Given the description of an element on the screen output the (x, y) to click on. 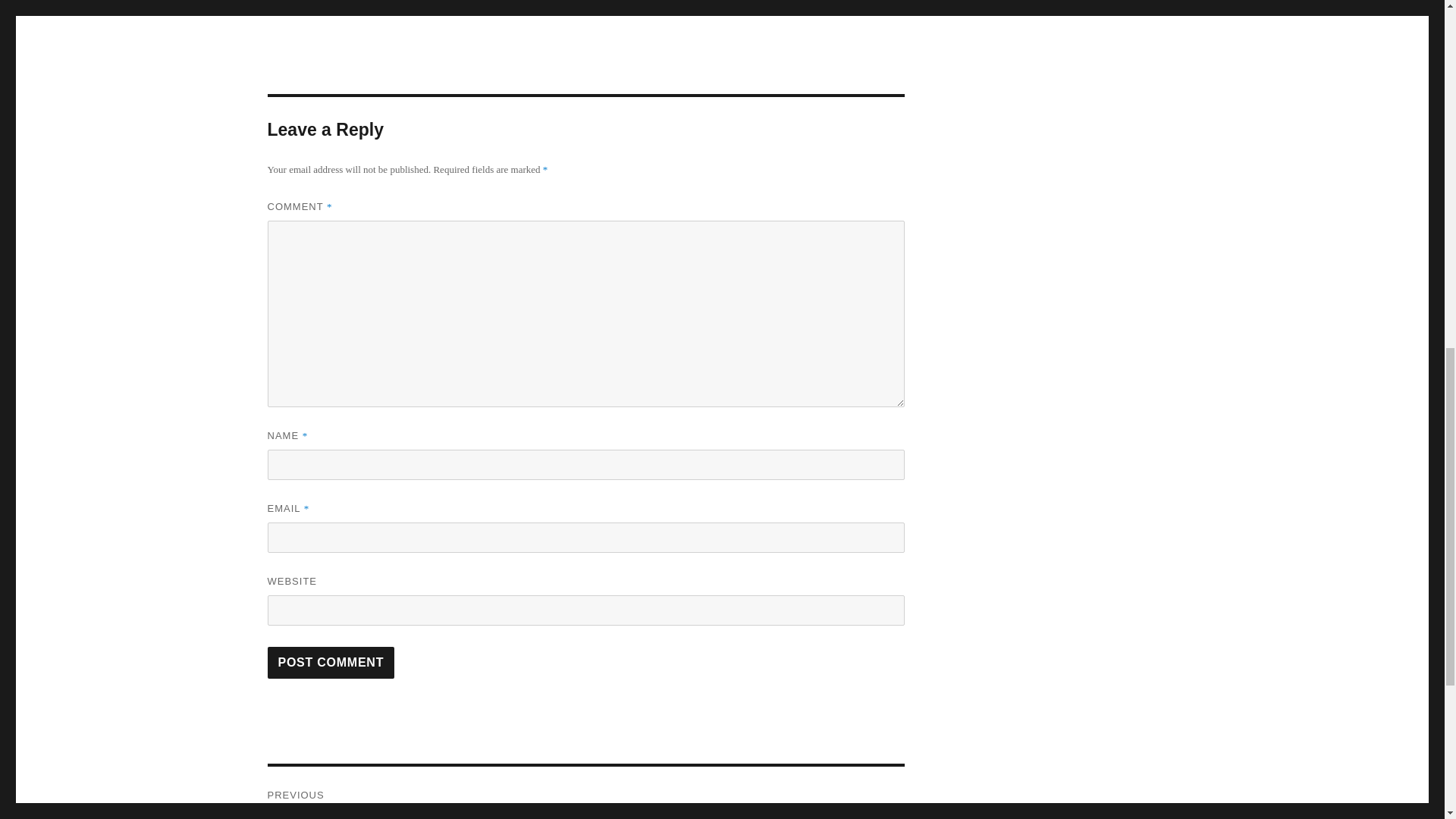
Post Comment (330, 662)
Post Comment (585, 792)
